Given the description of an element on the screen output the (x, y) to click on. 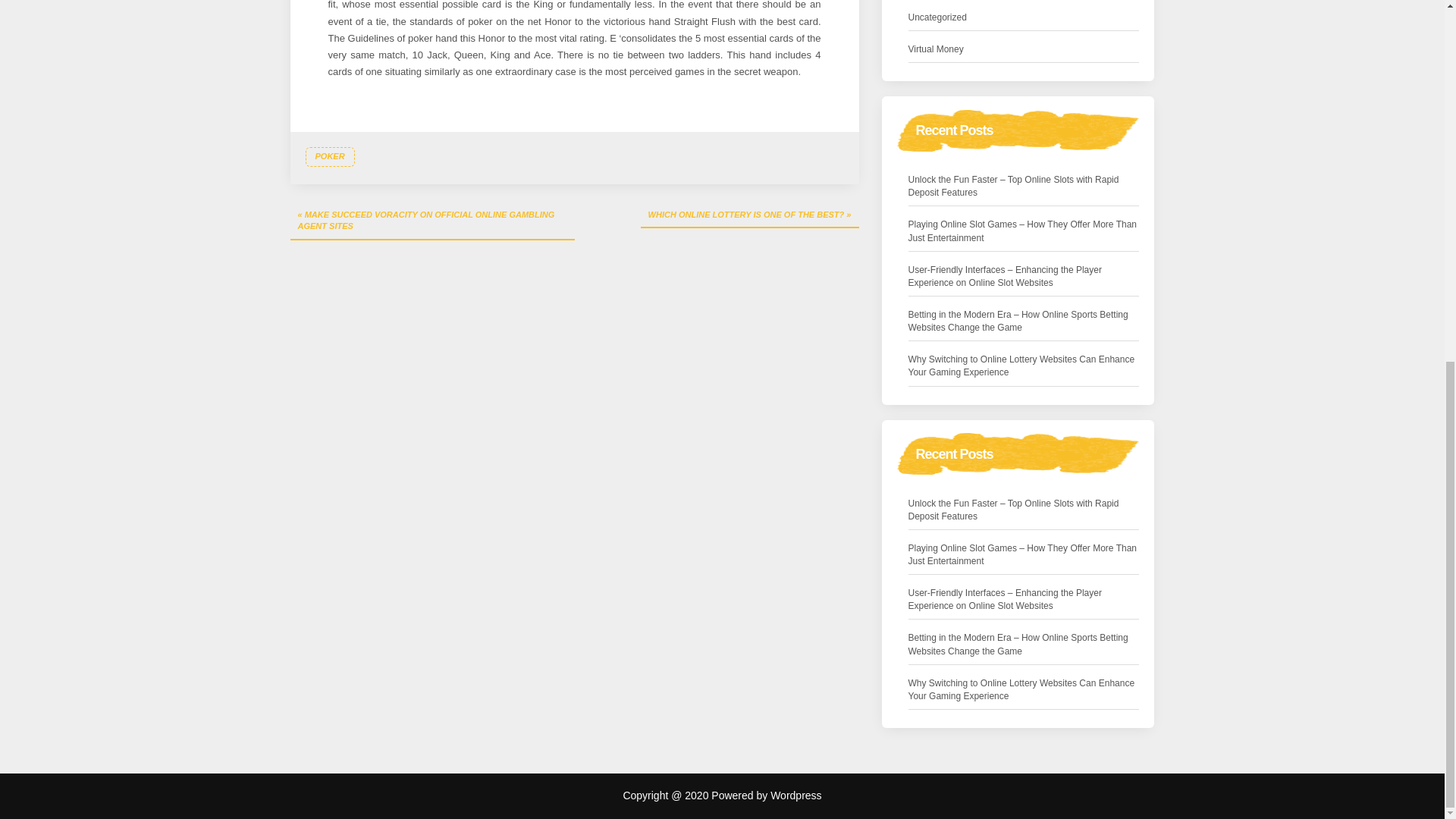
Uncategorized (937, 17)
Virtual Money (935, 49)
POKER (328, 157)
WHICH ONLINE LOTTERY IS ONE OF THE BEST? (749, 216)
